Given the description of an element on the screen output the (x, y) to click on. 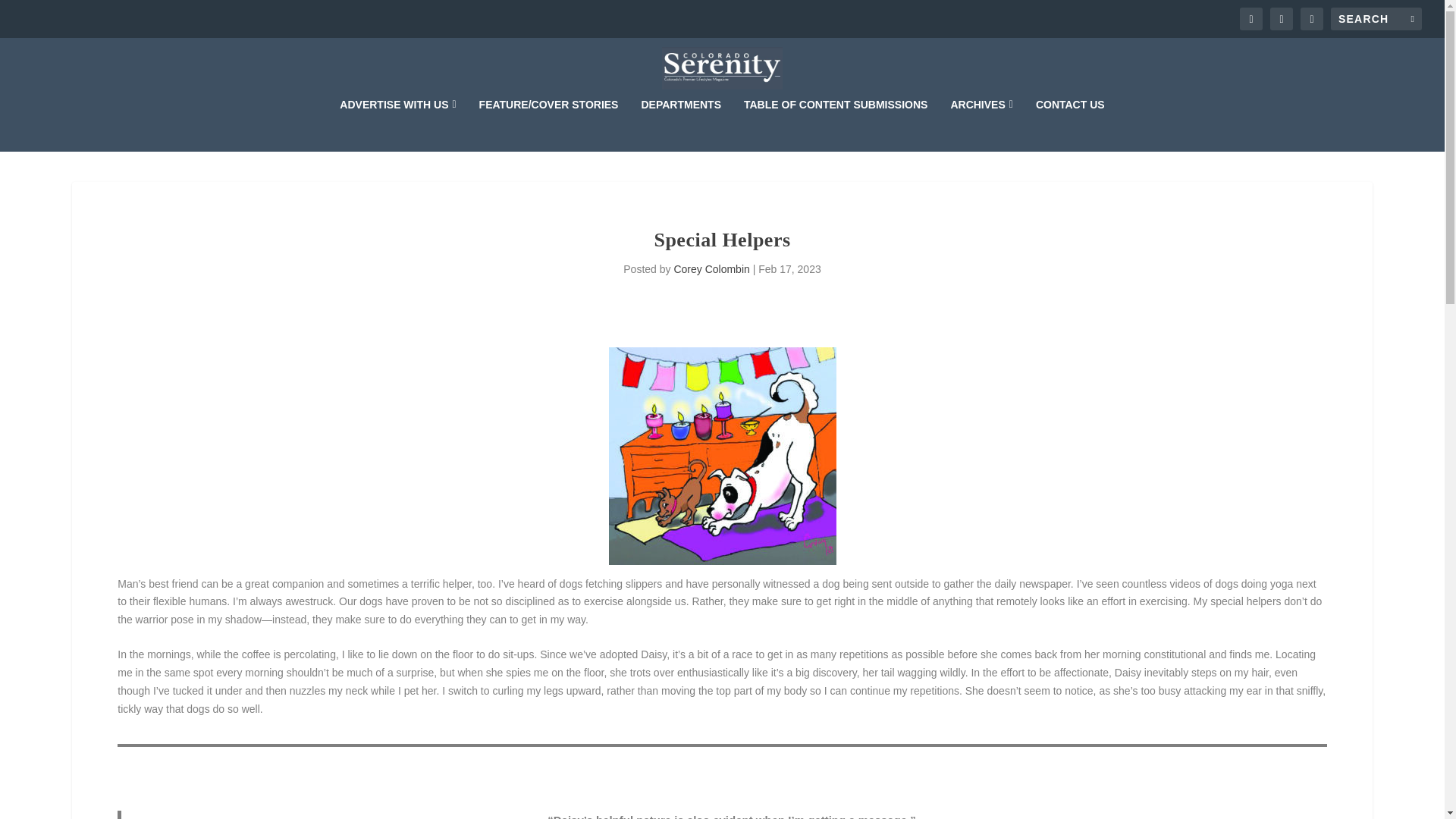
Search for: (1376, 18)
TABLE OF CONTENT SUBMISSIONS (835, 124)
ADVERTISE WITH US (397, 124)
CONTACT US (1070, 124)
DEPARTMENTS (680, 124)
Corey Colombin (710, 268)
ARCHIVES (980, 124)
Posts by Corey Colombin (710, 268)
